Given the description of an element on the screen output the (x, y) to click on. 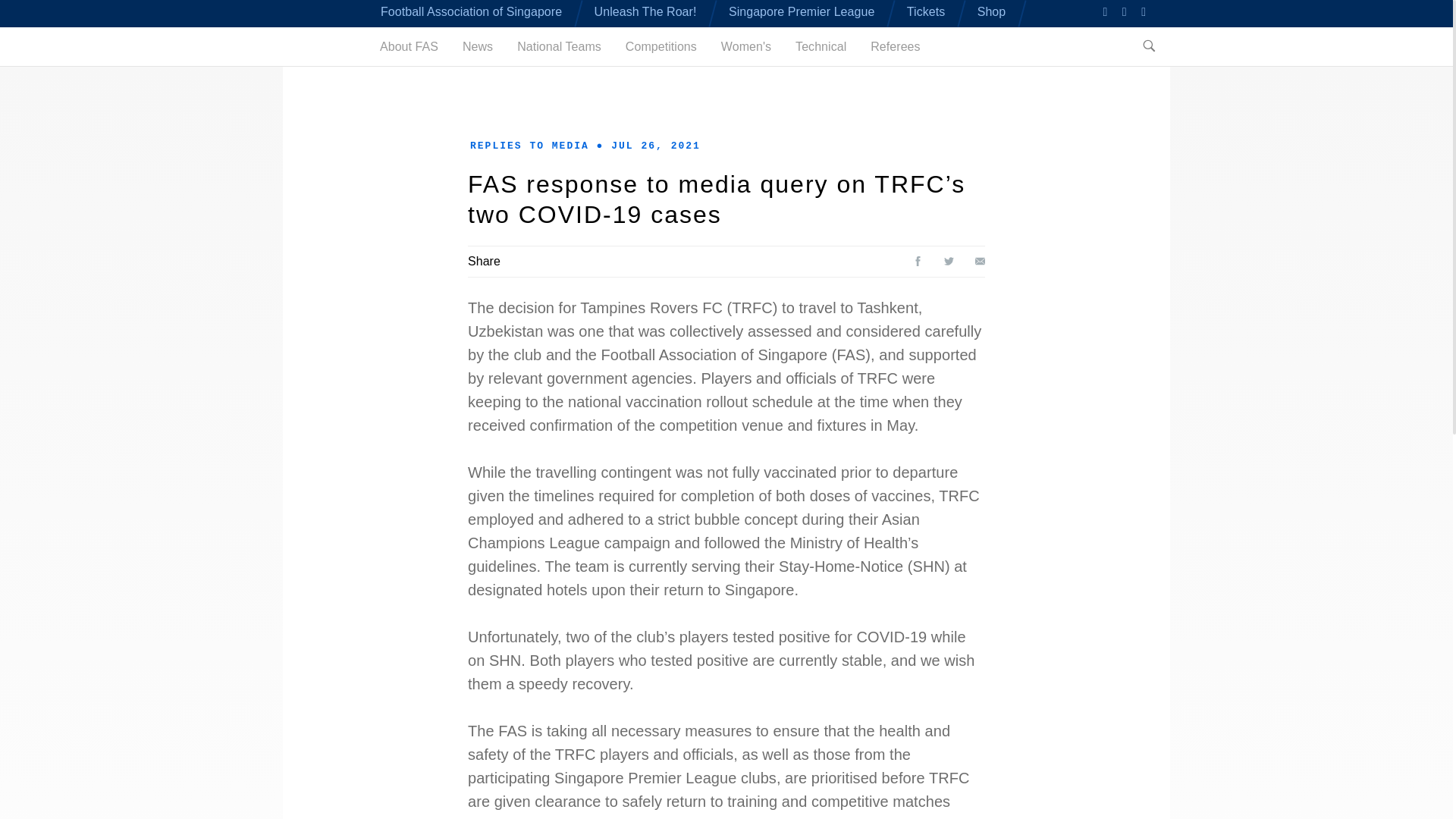
Tickets (925, 11)
Unleash The Roar! (645, 11)
Singapore Premier League (802, 11)
Football Association of Singapore (471, 11)
About FAS (409, 46)
National Teams (558, 46)
Shop (991, 11)
